Given the description of an element on the screen output the (x, y) to click on. 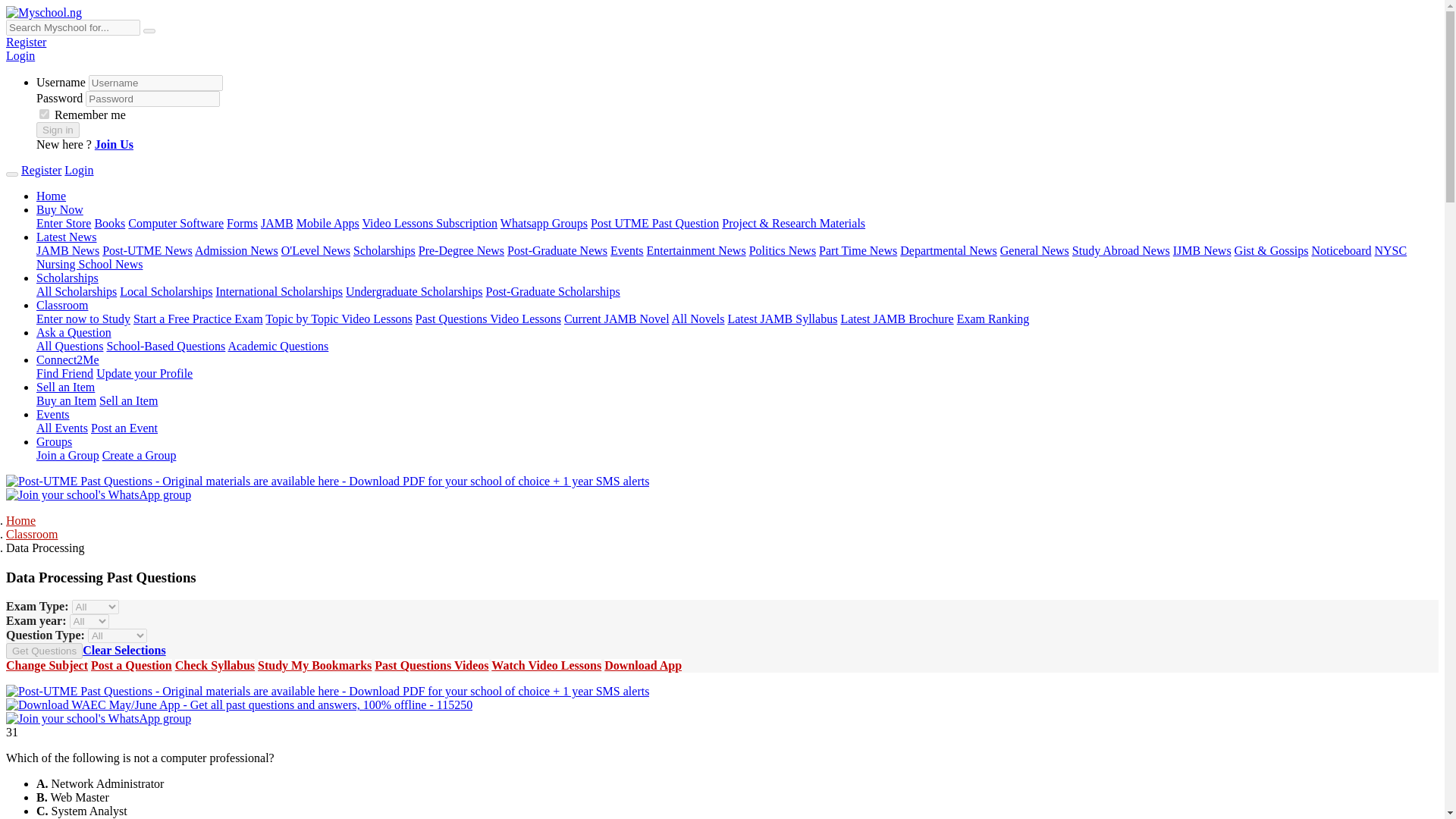
Login (78, 169)
JAMB News (67, 250)
Forms (242, 223)
IJMB News (1202, 250)
Whatsapp Groups (544, 223)
Mobile Apps (328, 223)
Video Lessons Subscription (429, 223)
Scholarships (383, 250)
Join Us (113, 144)
Computer Software (176, 223)
Noticeboard (1341, 250)
Books (109, 223)
JAMB (277, 223)
Politics News (782, 250)
NYSC (1390, 250)
